Given the description of an element on the screen output the (x, y) to click on. 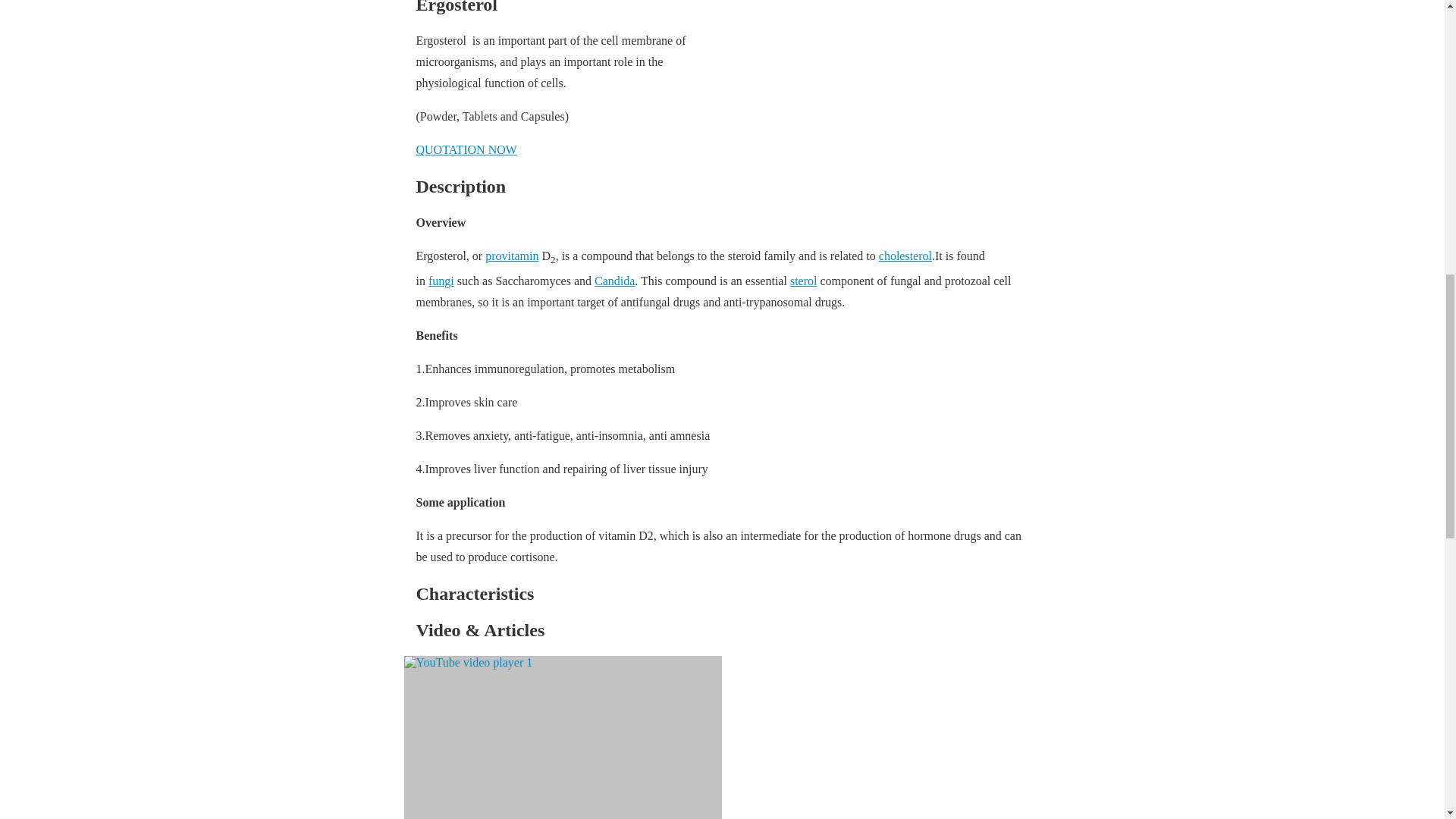
Candida (614, 280)
cholesterol (905, 255)
fungi (441, 280)
QUOTATION NOW (465, 149)
sterol (803, 280)
YouTube video player 1 (562, 737)
provitamin (511, 255)
